Given the description of an element on the screen output the (x, y) to click on. 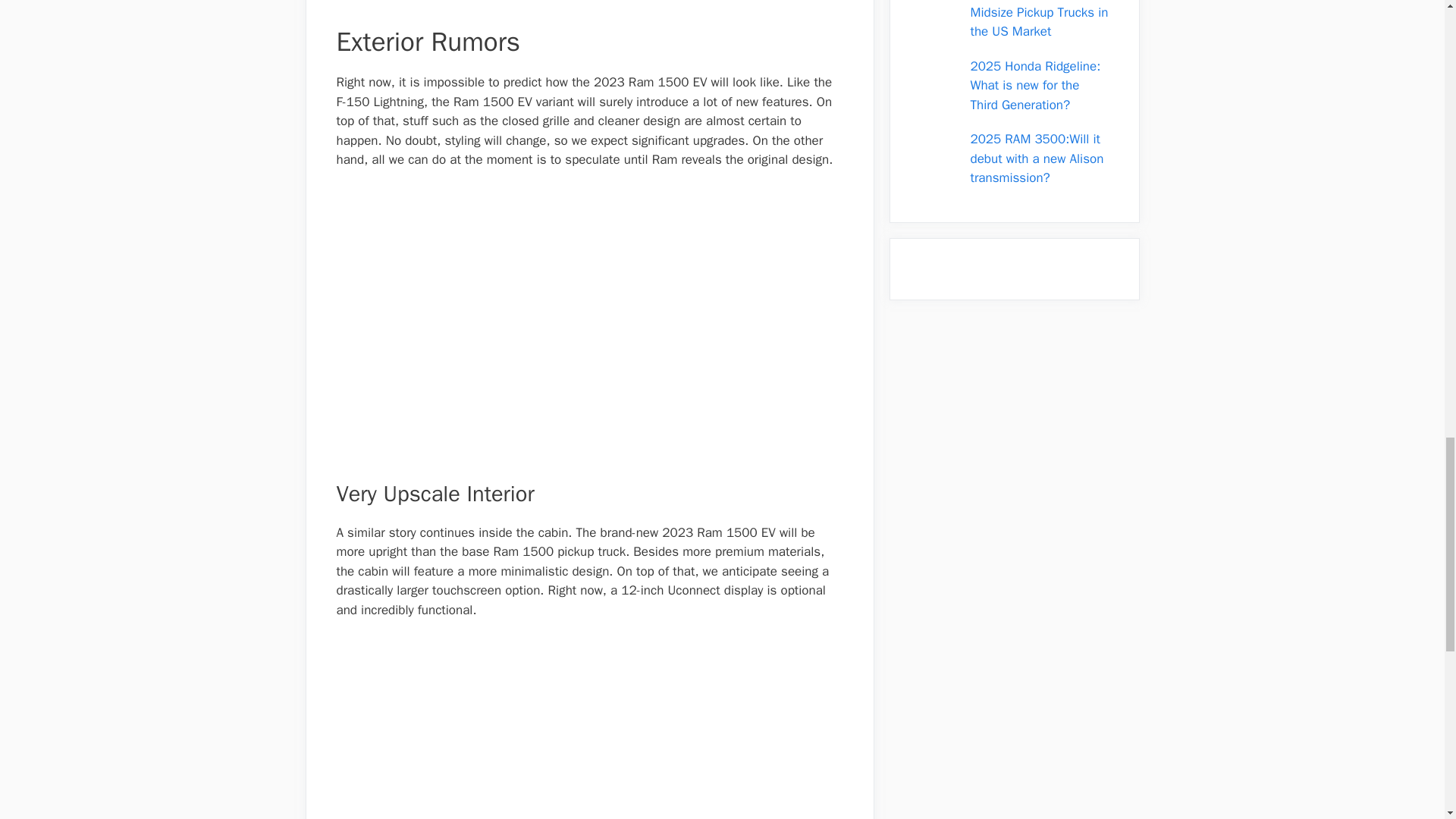
2025 Honda Ridgeline: What is new for the Third Generation? (1034, 84)
2025: Best Small and Midsize Pickup Trucks in the US Market (1038, 19)
